Given the description of an element on the screen output the (x, y) to click on. 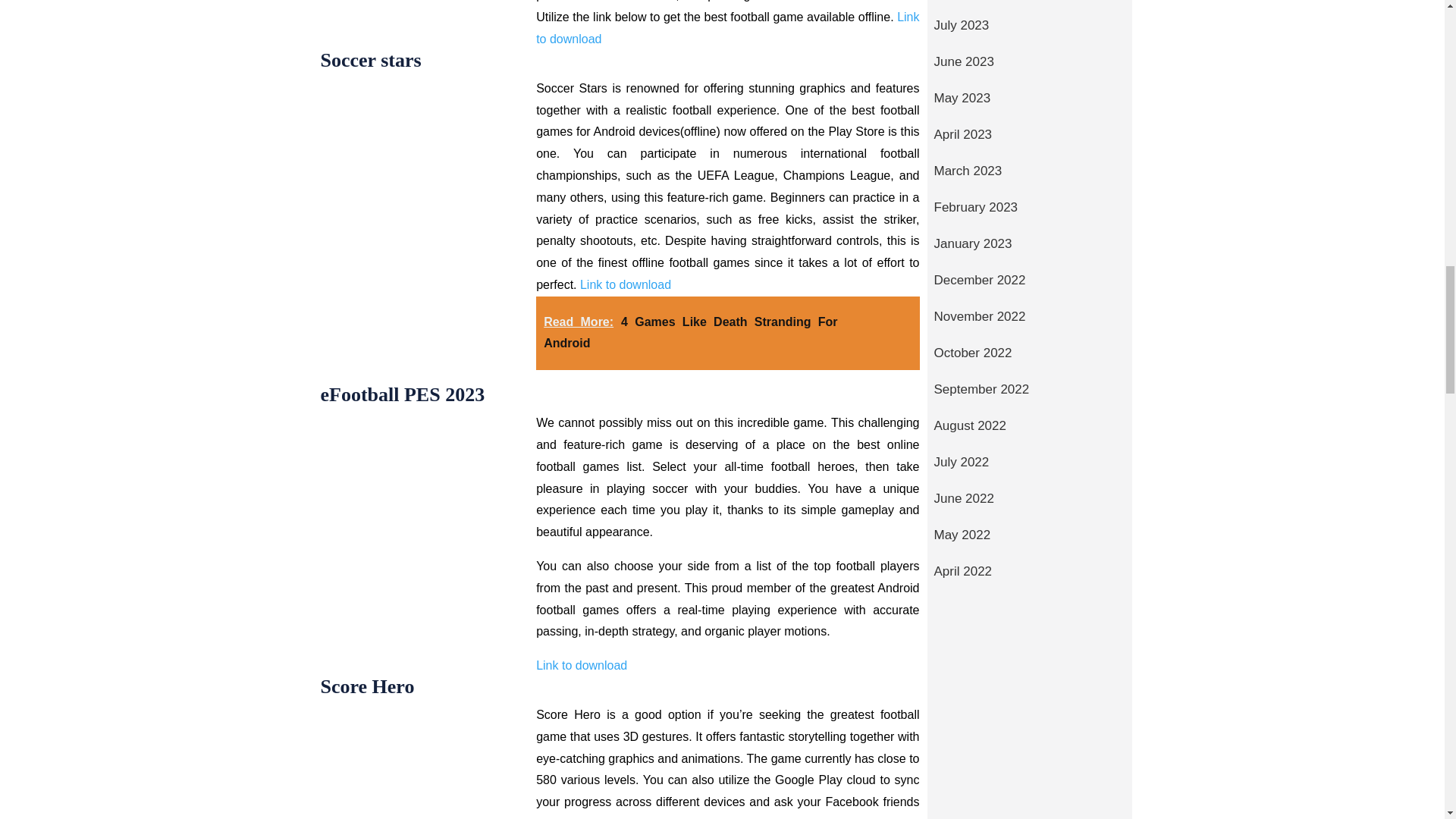
Link to download (625, 284)
Link to download (726, 27)
4 Games Like Death Stranding For Android (690, 332)
Link to download (581, 665)
